Given the description of an element on the screen output the (x, y) to click on. 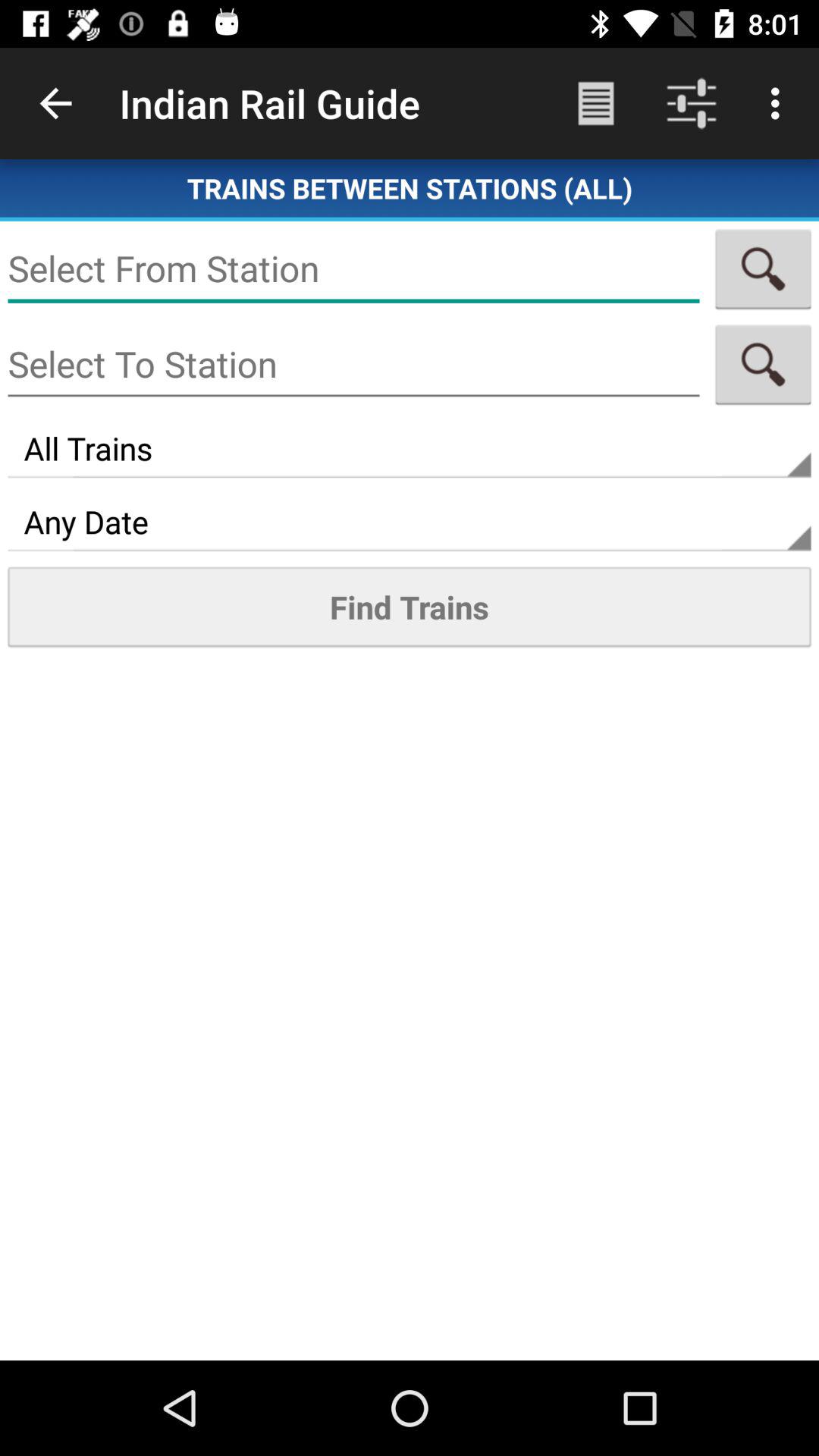
search any one (353, 268)
